Given the description of an element on the screen output the (x, y) to click on. 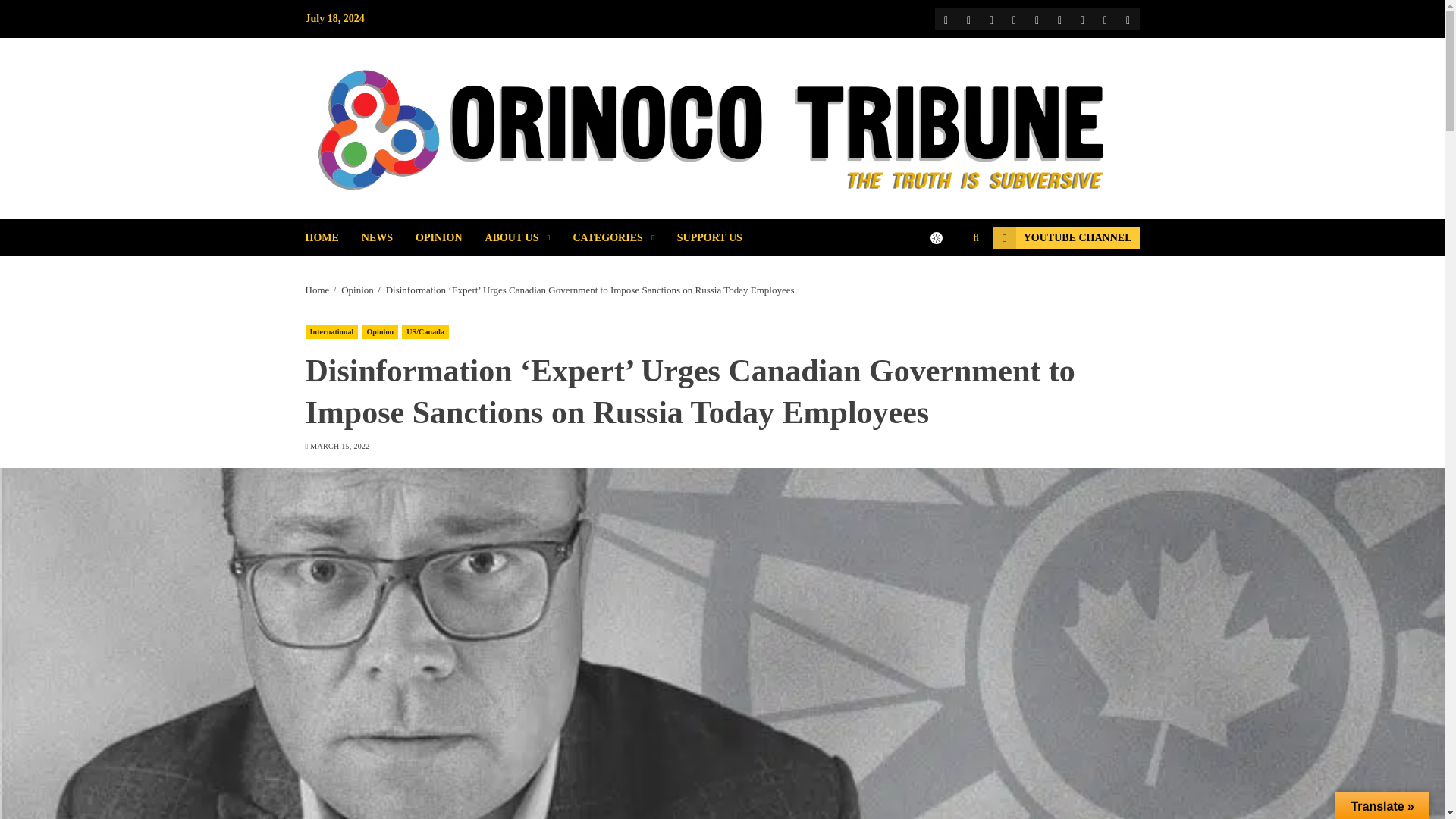
WhatsApp (1127, 18)
Telegram (1059, 18)
ABOUT US (528, 237)
Reddit (1036, 18)
CATEGORIES (624, 237)
YouTube (991, 18)
TikTok (1081, 18)
FB (945, 18)
Twitter (967, 18)
LinkedIn (1104, 18)
NEWS (387, 237)
IG (1014, 18)
HOME (332, 237)
OPINION (449, 237)
